Given the description of an element on the screen output the (x, y) to click on. 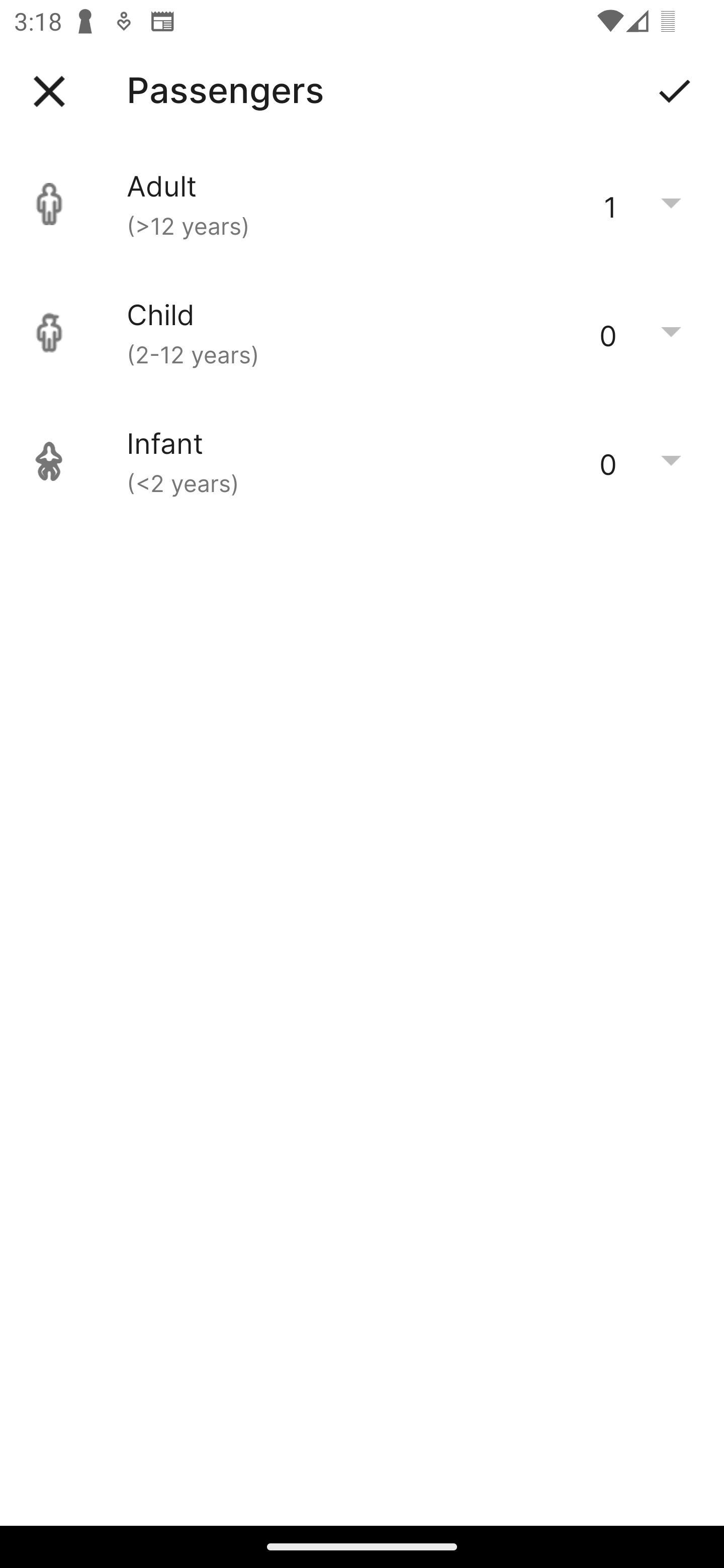
Adult (>12 years) 1 (362, 204)
Child (2-12 years) 0 (362, 332)
Infant (<2 years) 0 (362, 461)
